Given the description of an element on the screen output the (x, y) to click on. 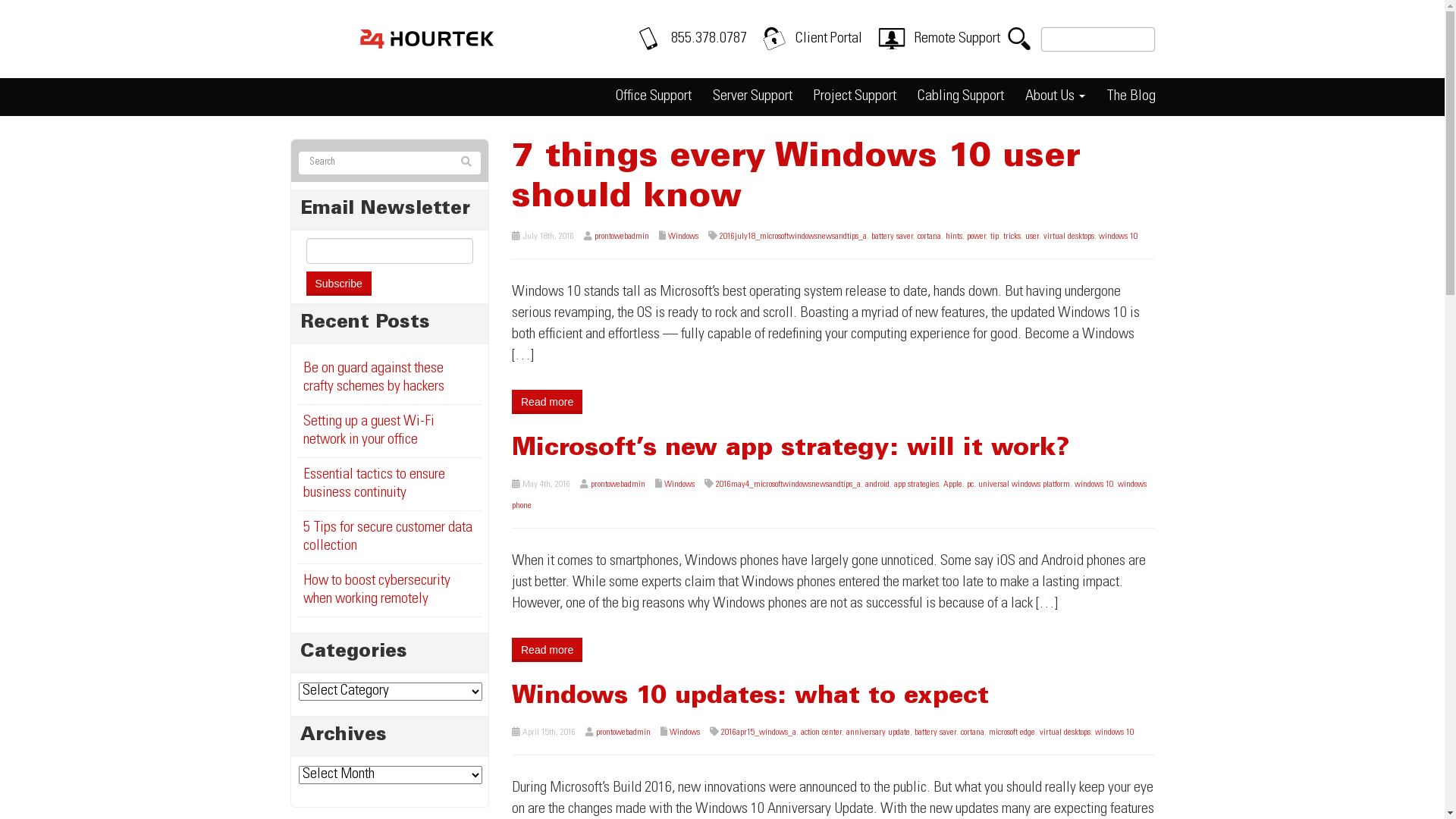
android Element type: text (877, 484)
7 things every Windows 10 user should know Element type: text (795, 178)
virtual desktops Element type: text (1068, 236)
About Us Element type: text (1054, 97)
battery saver Element type: text (935, 732)
Server Support Element type: text (752, 97)
Setting up a guest Wi-Fi network in your office Element type: text (368, 431)
windows phone Element type: text (828, 495)
windows 10 Element type: text (1114, 732)
Windows Element type: text (684, 732)
universal windows platform Element type: text (1024, 484)
tip Element type: text (994, 236)
windows 10 Element type: text (1117, 236)
Read more Element type: text (546, 649)
pc Element type: text (969, 484)
Client Portal Element type: text (827, 39)
microsoft edge Element type: text (1011, 732)
tricks Element type: text (1011, 236)
Windows Element type: text (683, 236)
The Blog Element type: text (1130, 97)
prontowebadmin Element type: text (617, 484)
cortana Element type: text (972, 732)
Apple Element type: text (952, 484)
app strategies Element type: text (916, 484)
virtual desktops Element type: text (1064, 732)
Search Element type: text (465, 162)
Cabling Support Element type: text (960, 97)
anniversary update Element type: text (878, 732)
Remote Support Element type: text (956, 39)
Read more Element type: text (546, 401)
prontowebadmin Element type: text (623, 732)
Subscribe Element type: text (338, 283)
prontowebadmin Element type: text (621, 236)
Project Support Element type: text (854, 97)
Office Support Element type: text (653, 97)
5 Tips for secure customer data collection Element type: text (387, 537)
hints Element type: text (953, 236)
855.378.0787 Element type: text (708, 39)
user Element type: text (1031, 236)
windows 10 Element type: text (1093, 484)
2016apr15_windows_a Element type: text (758, 732)
Windows 10 updates: what to expect Element type: text (749, 697)
2016july18_microsoftwindowsnewsandtips_a Element type: text (792, 236)
action center Element type: text (820, 732)
cortana Element type: text (929, 236)
2016may4_microsoftwindowsnewsandtips_a Element type: text (787, 484)
Be on guard against these crafty schemes by hackers Element type: text (373, 378)
Windows Element type: text (679, 484)
power Element type: text (975, 236)
Essential tactics to ensure business continuity Element type: text (374, 484)
battery saver Element type: text (892, 236)
How to boost cybersecurity when working remotely Element type: text (376, 590)
